Given the description of an element on the screen output the (x, y) to click on. 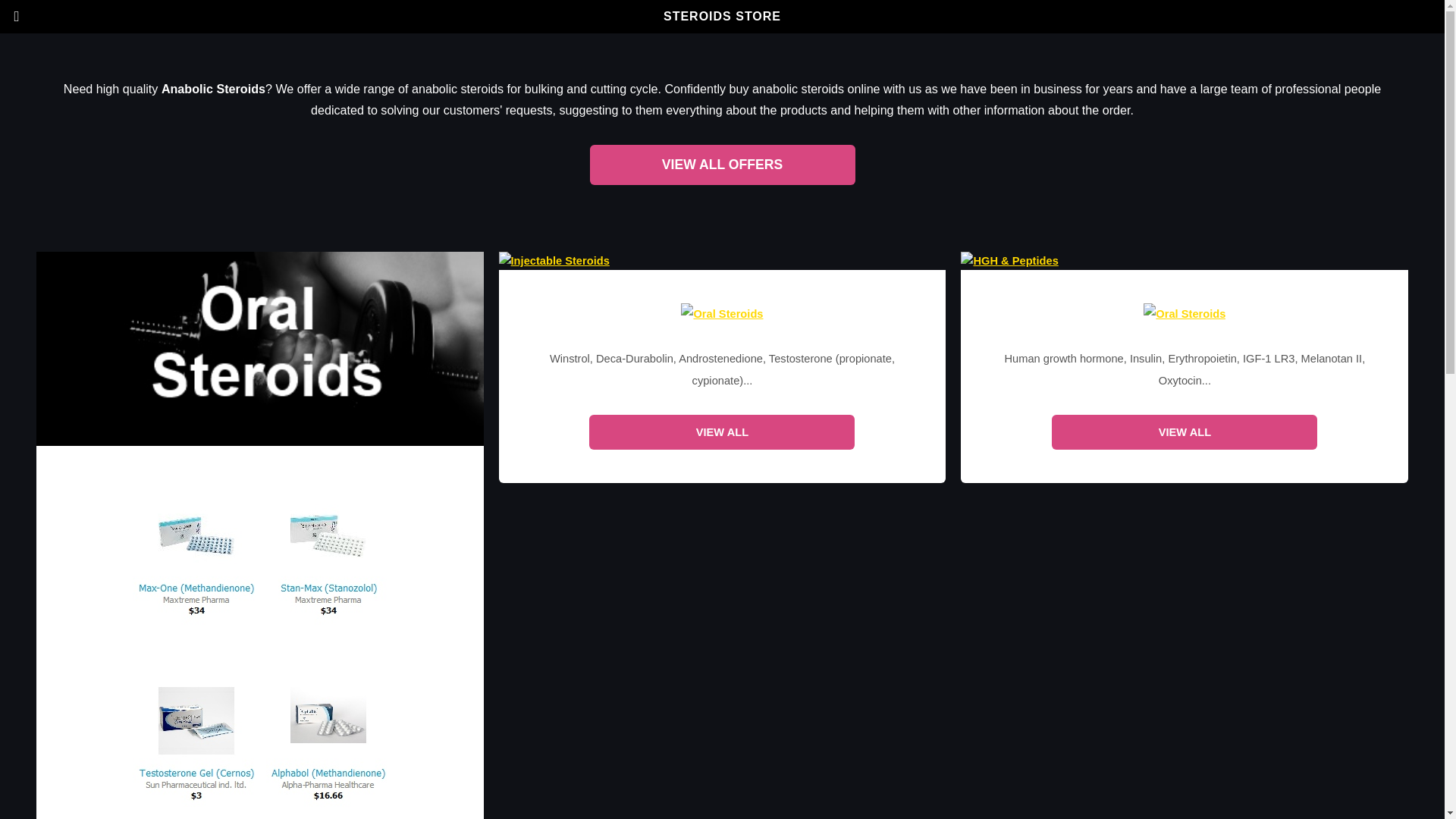
VIEW ALL (721, 431)
VIEW ALL OFFERS (722, 164)
VIEW ALL (1184, 431)
